Given the description of an element on the screen output the (x, y) to click on. 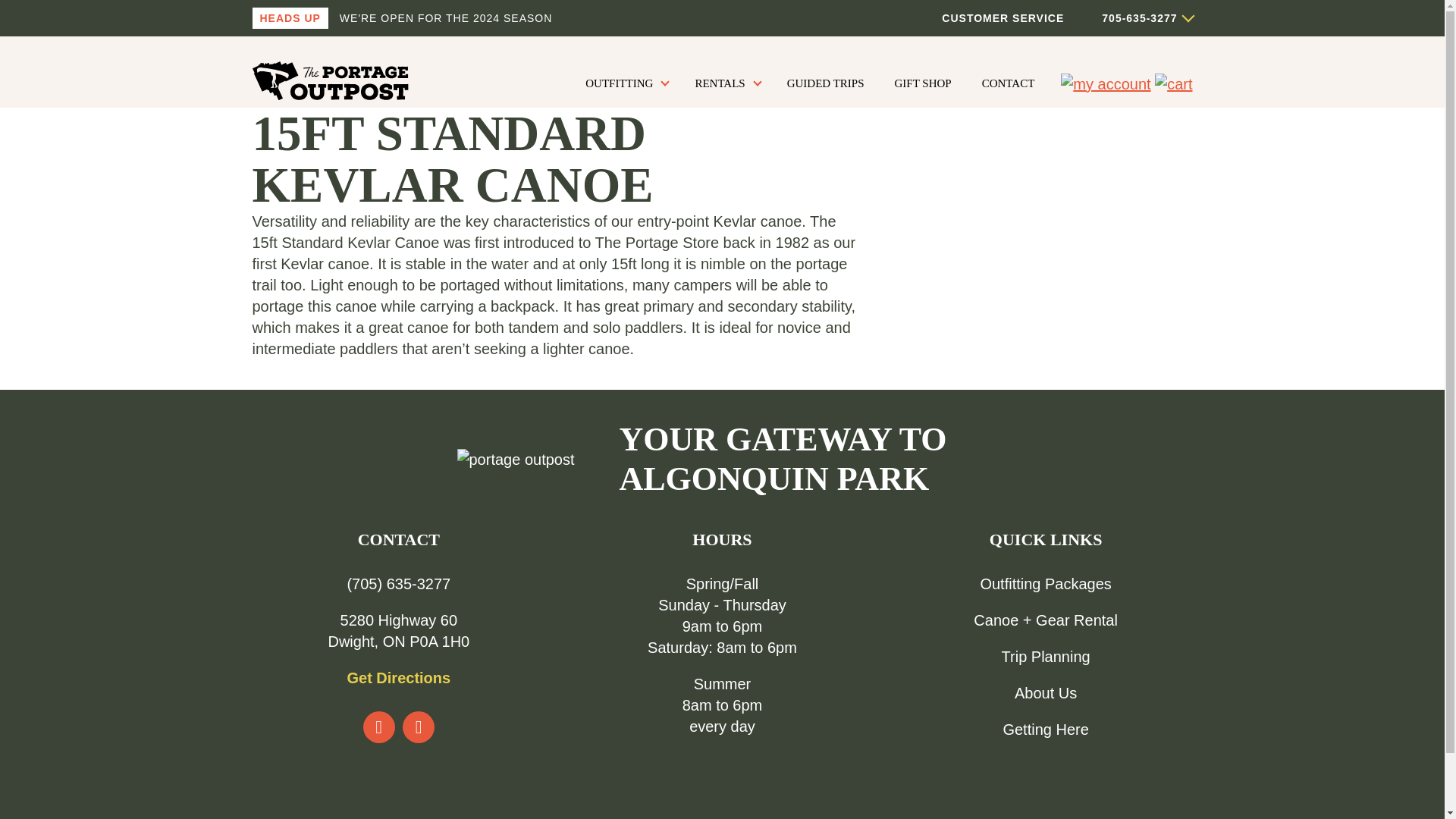
CONTACT (1008, 82)
705-635-3277 (1127, 18)
Get Directions (397, 677)
GIFT SHOP (923, 82)
GUIDED TRIPS (825, 82)
Outfitting Packages (1044, 583)
RENTALS (725, 82)
OUTFITTING (624, 82)
CUSTOMER SERVICE (1003, 18)
Getting Here (1045, 729)
